Given the description of an element on the screen output the (x, y) to click on. 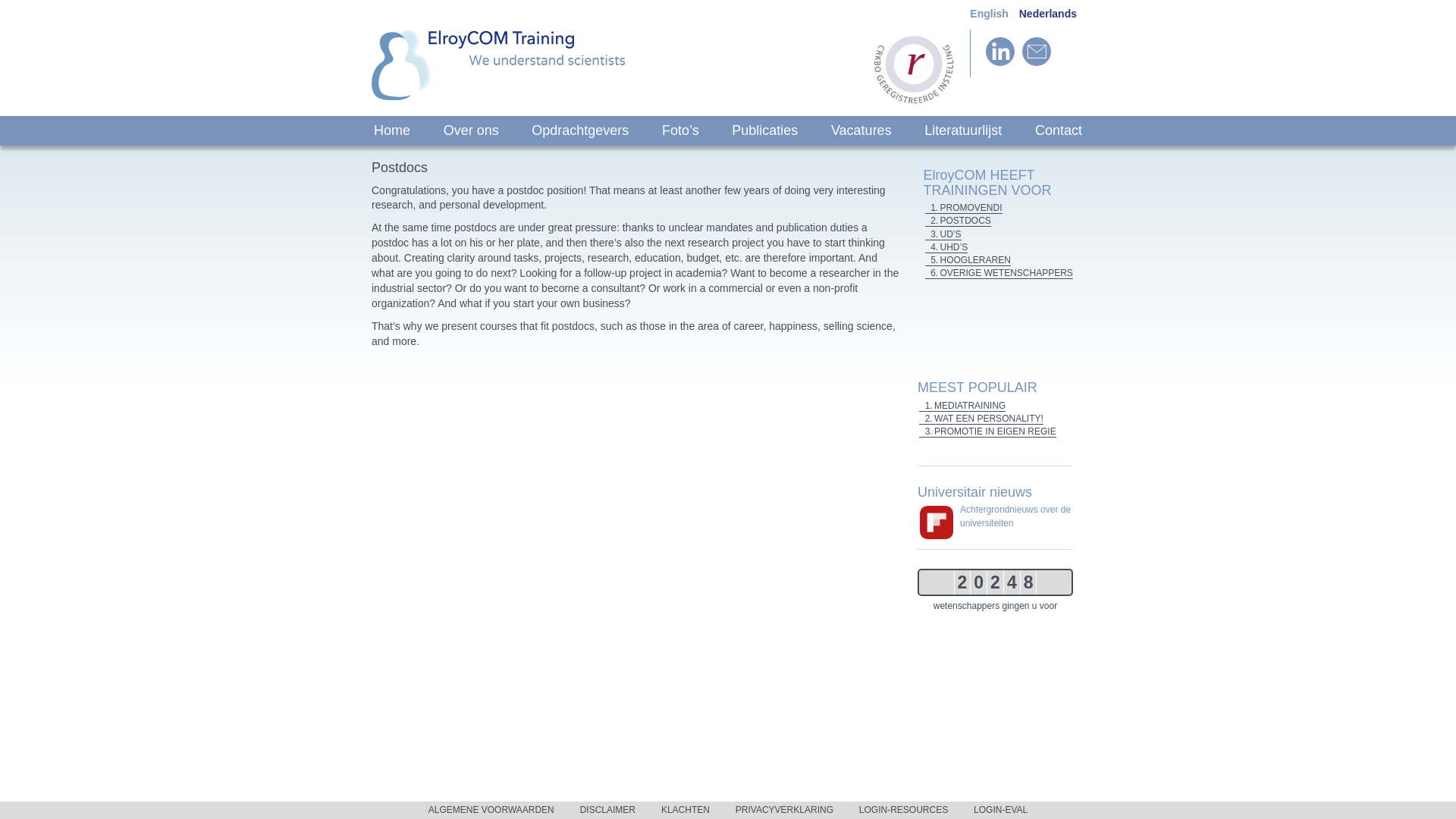
POSTDOCS (957, 220)
PROMOTIE IN EIGEN REGIE (987, 431)
HOOGLERAREN (967, 260)
Vacatures (860, 130)
WAT EEN PERSONALITY! (980, 419)
PROMOVENDI (963, 207)
OVERIGE WETENSCHAPPERS (998, 273)
Publicaties (764, 130)
Opdrachtgevers (579, 130)
Achtergrondnieuws over de universiteiten (1014, 515)
